Given the description of an element on the screen output the (x, y) to click on. 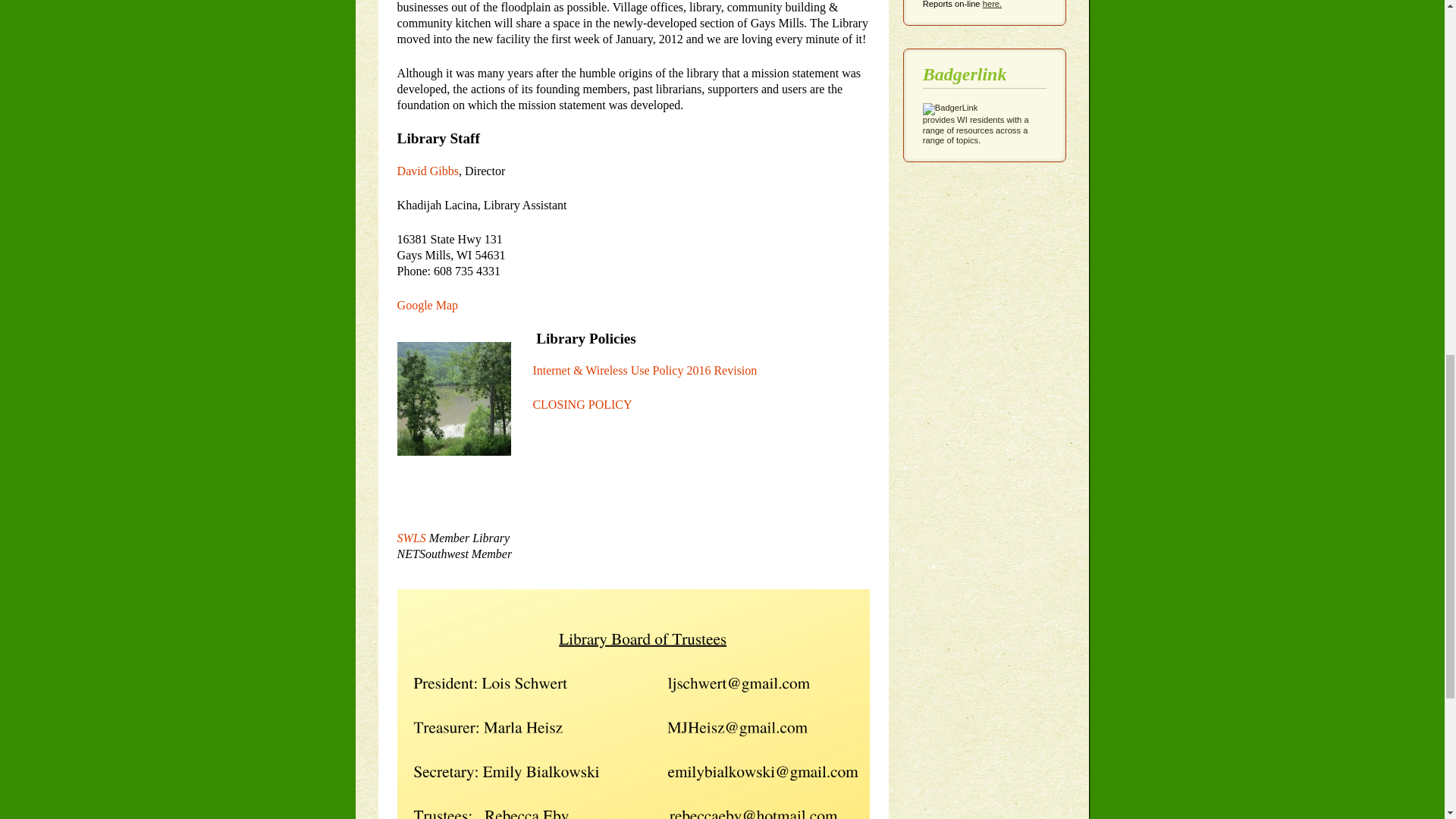
search BadgerLink (976, 123)
here. (992, 4)
Consumer Reports (992, 4)
David Gibbs (427, 170)
SWLS (413, 537)
Google Map (427, 305)
CLOSING POLICY (581, 404)
